Given the description of an element on the screen output the (x, y) to click on. 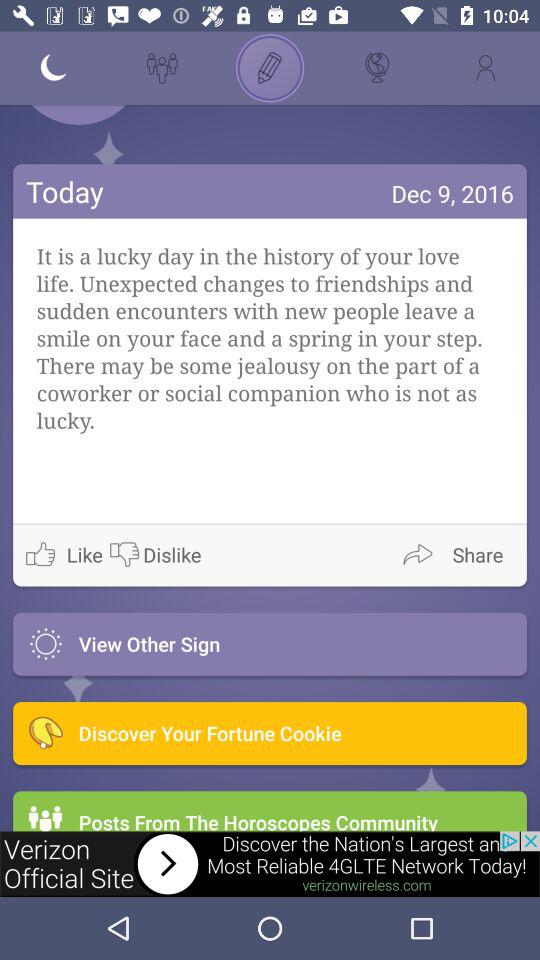
advertisement (270, 864)
